Given the description of an element on the screen output the (x, y) to click on. 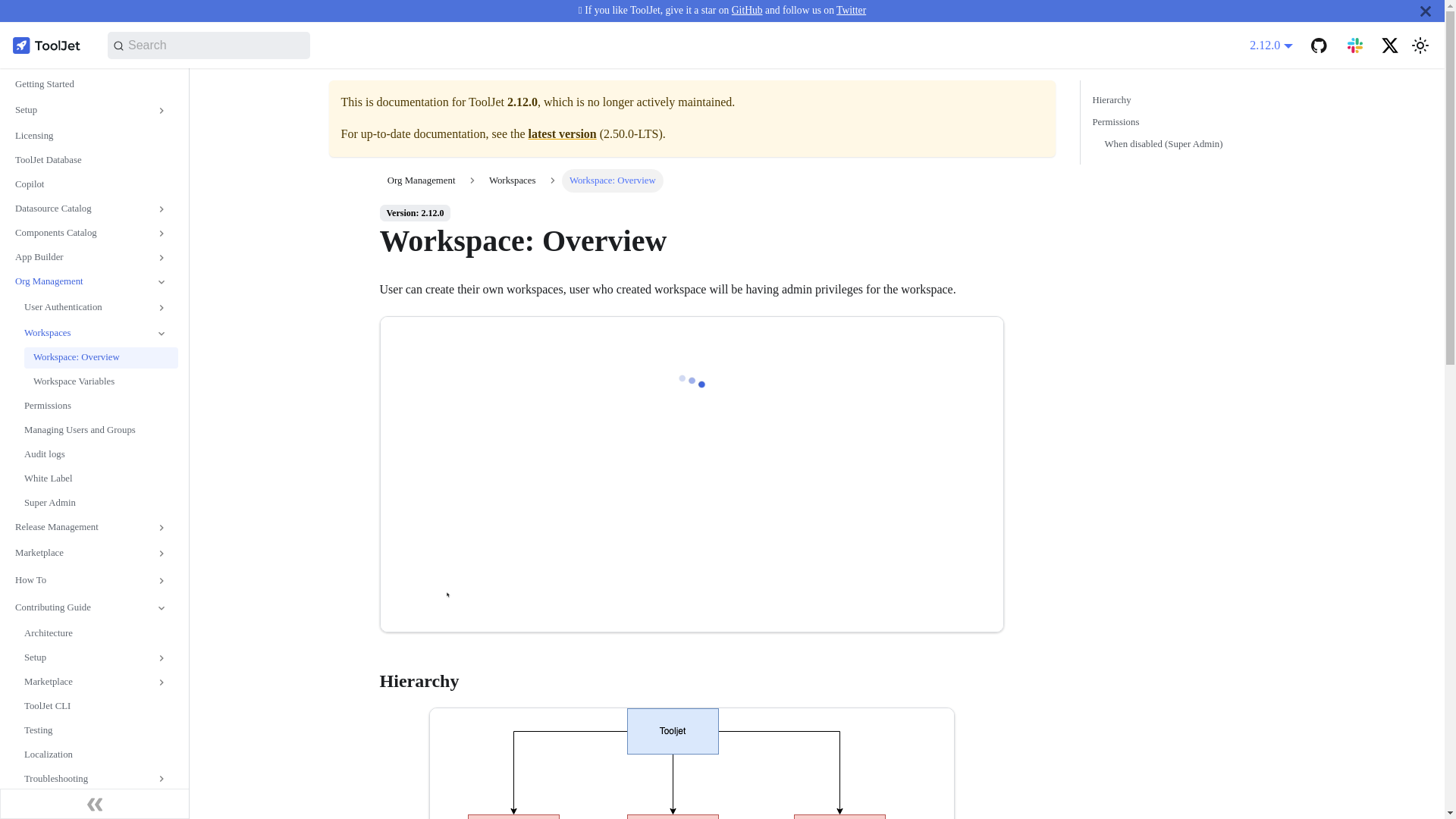
2.12.0 (1270, 44)
Collapse sidebar (94, 803)
Twitter (850, 9)
Search (208, 44)
GitHub (747, 9)
